Given the description of an element on the screen output the (x, y) to click on. 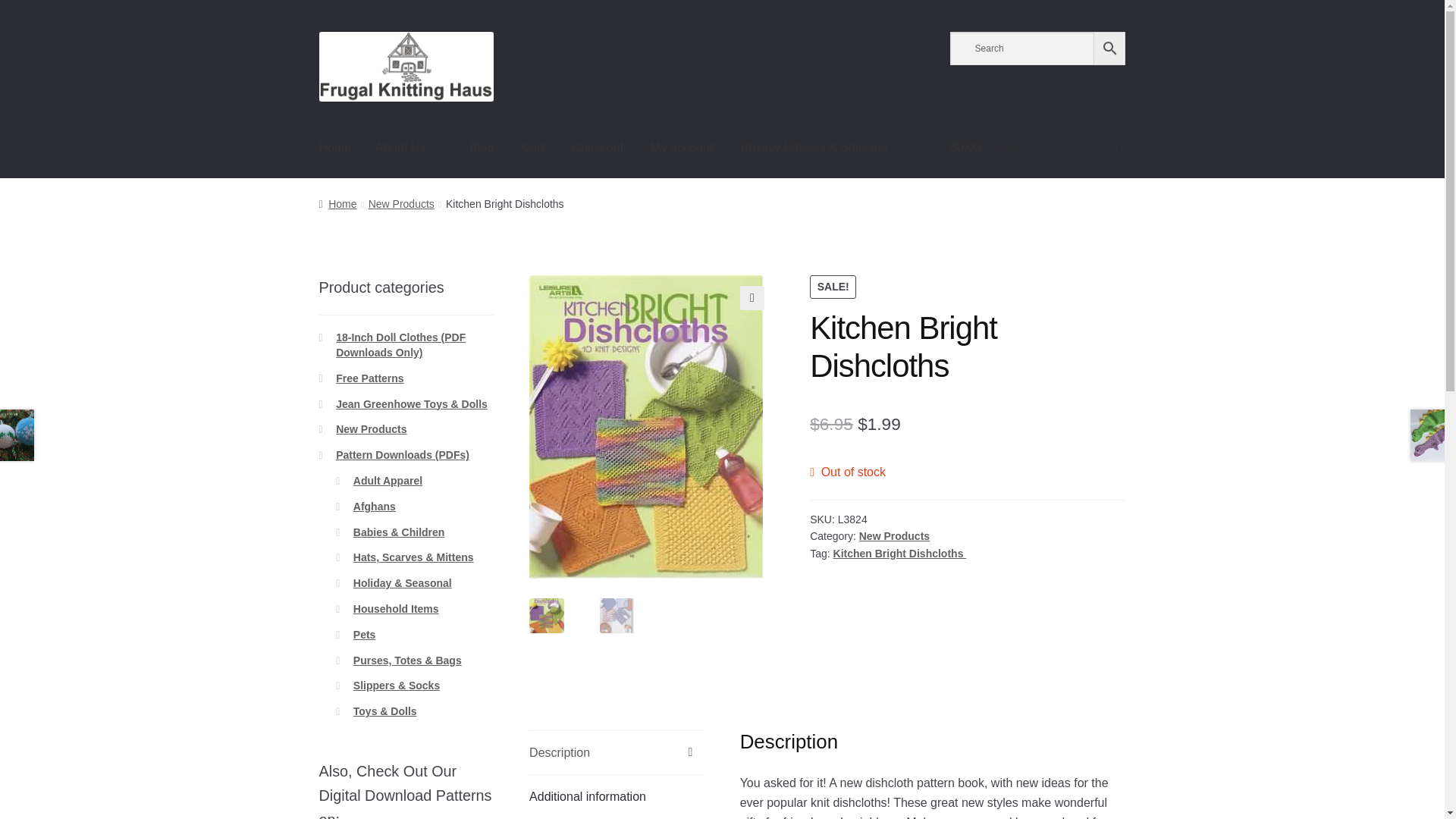
Additional information (616, 796)
About Us (408, 148)
Kitchen Bright Dishcloths  (899, 553)
New Products (894, 535)
View your shopping cart (1037, 148)
New Products (400, 203)
My account (682, 148)
Description (616, 752)
Home (337, 203)
Home (335, 148)
Checkout (596, 148)
